Given the description of an element on the screen output the (x, y) to click on. 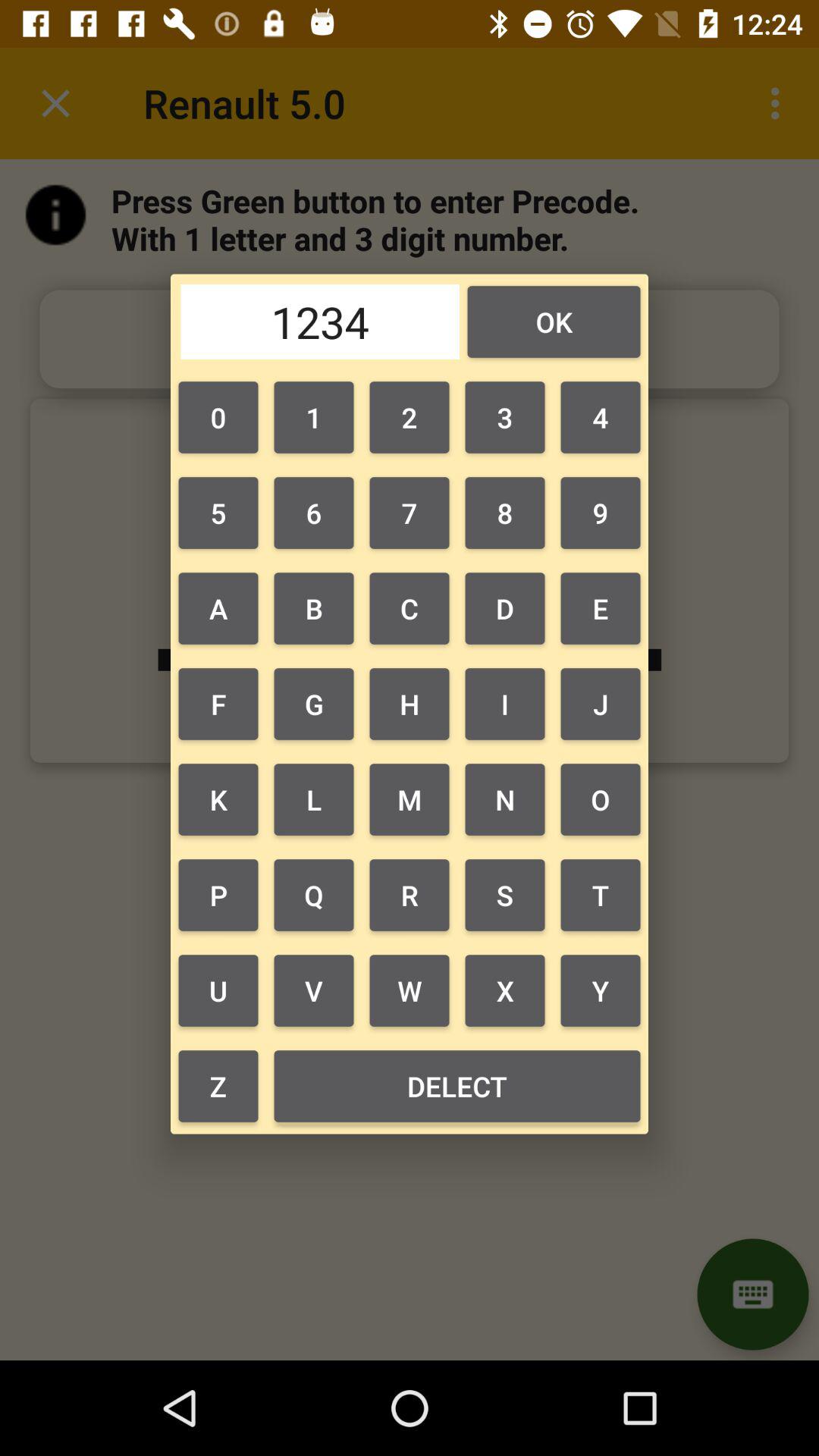
launch button above 5 icon (218, 417)
